Given the description of an element on the screen output the (x, y) to click on. 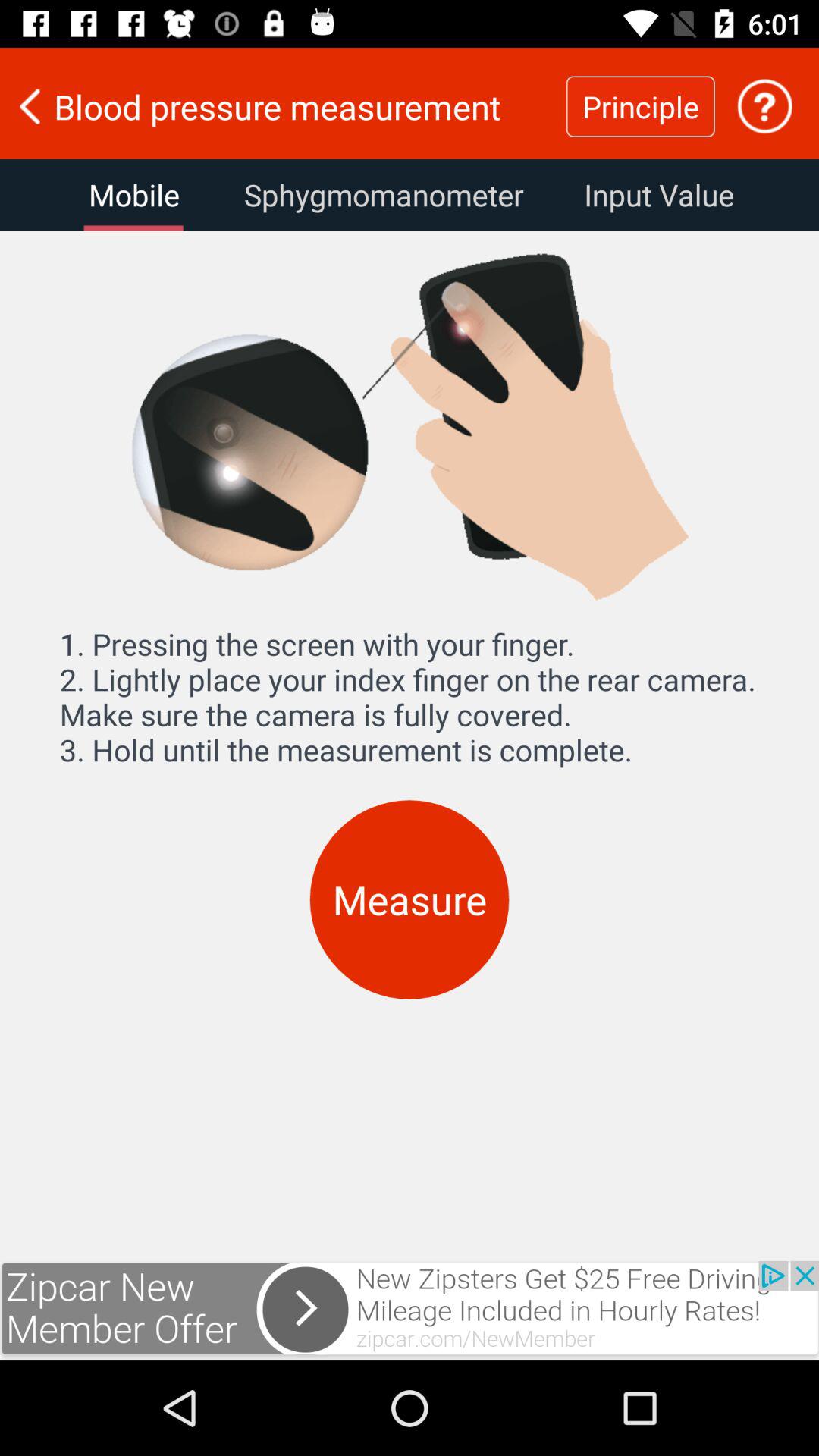
discover offer from zipcar (409, 1310)
